Given the description of an element on the screen output the (x, y) to click on. 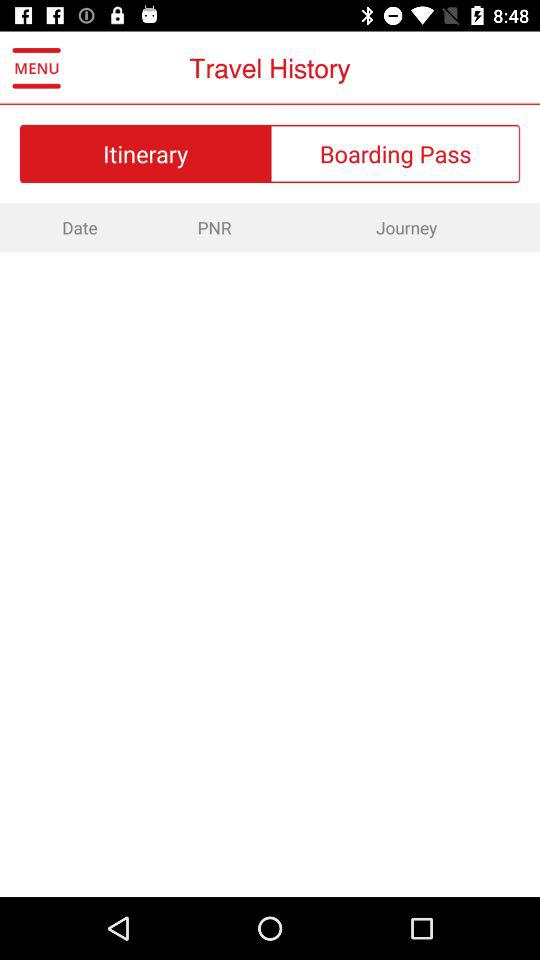
launch the item below itinerary (214, 227)
